Given the description of an element on the screen output the (x, y) to click on. 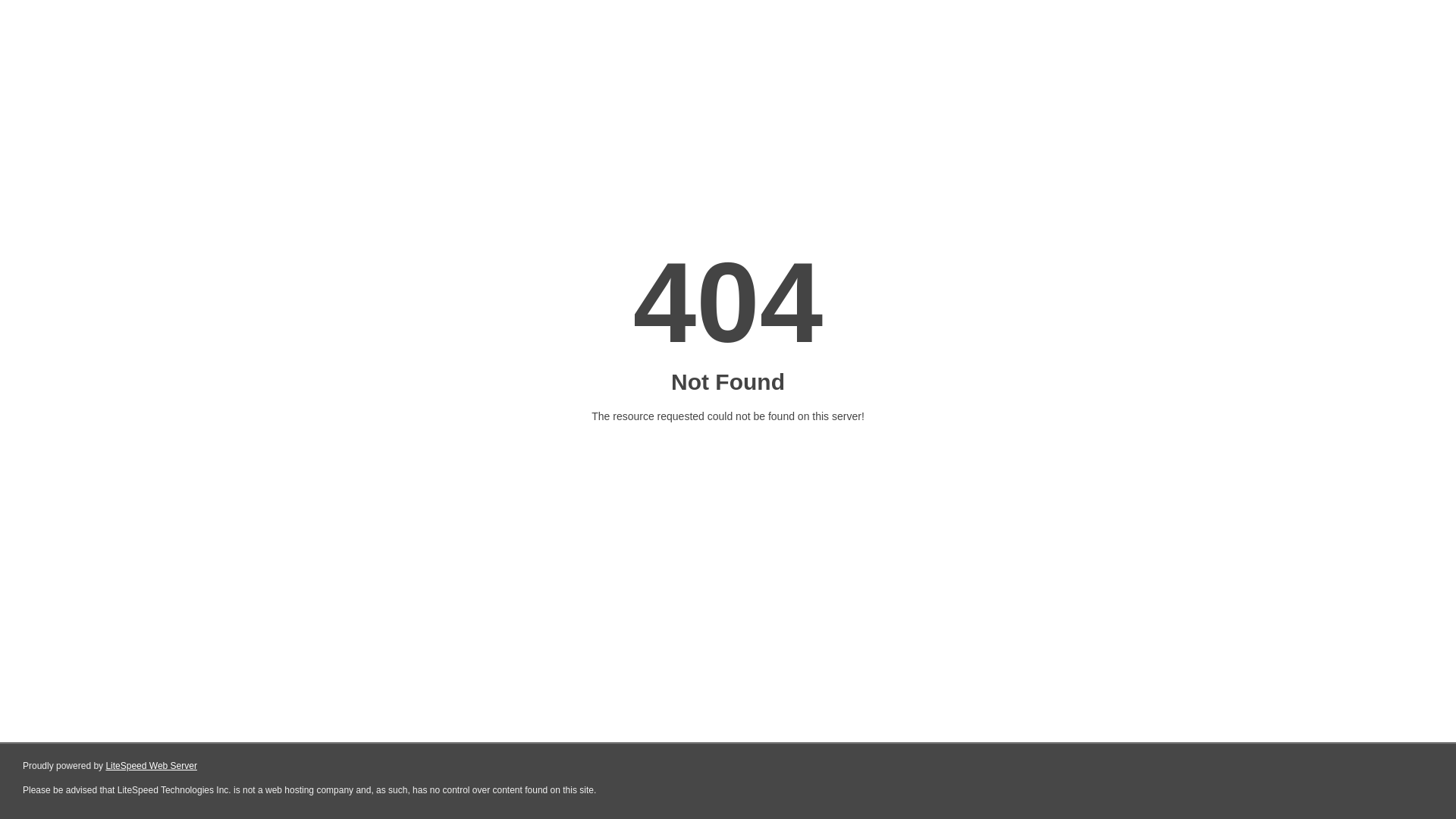
LiteSpeed Web Server Element type: text (151, 765)
